Given the description of an element on the screen output the (x, y) to click on. 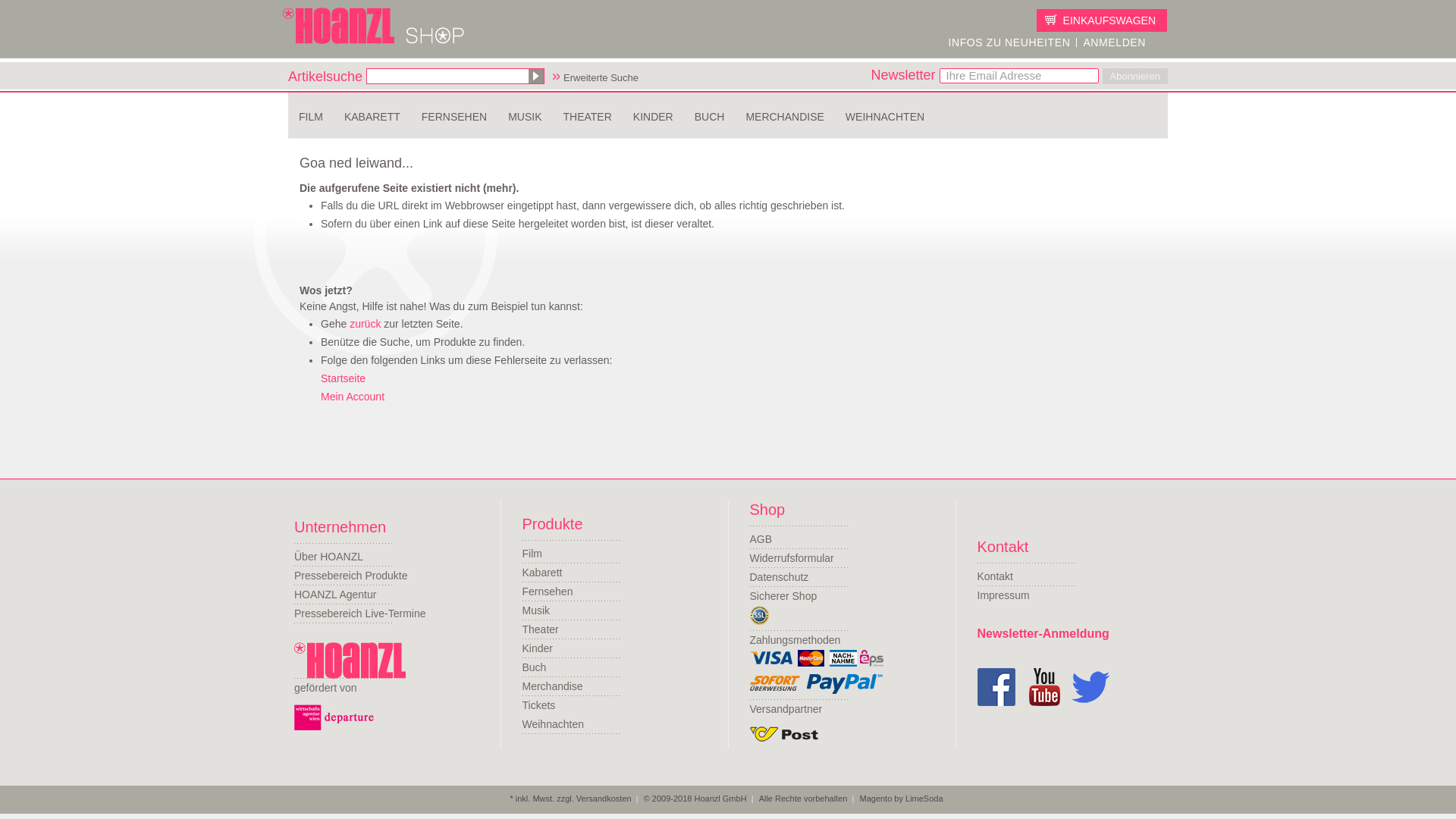
Abonnieren (1135, 75)
Erweiterte Suche (603, 79)
Abonnieren (1135, 75)
EINKAUFSWAGEN (1101, 20)
Newsletter Anmeldung (1008, 42)
INFOS ZU NEUHEITEN (1008, 42)
departure - Die Kreativagentur der Stadt Wien (334, 717)
ANMELDEN (1114, 42)
Webshop von LimeSoda (900, 798)
FILM (310, 116)
Anmelden (1114, 42)
Live-Termine (360, 613)
